Given the description of an element on the screen output the (x, y) to click on. 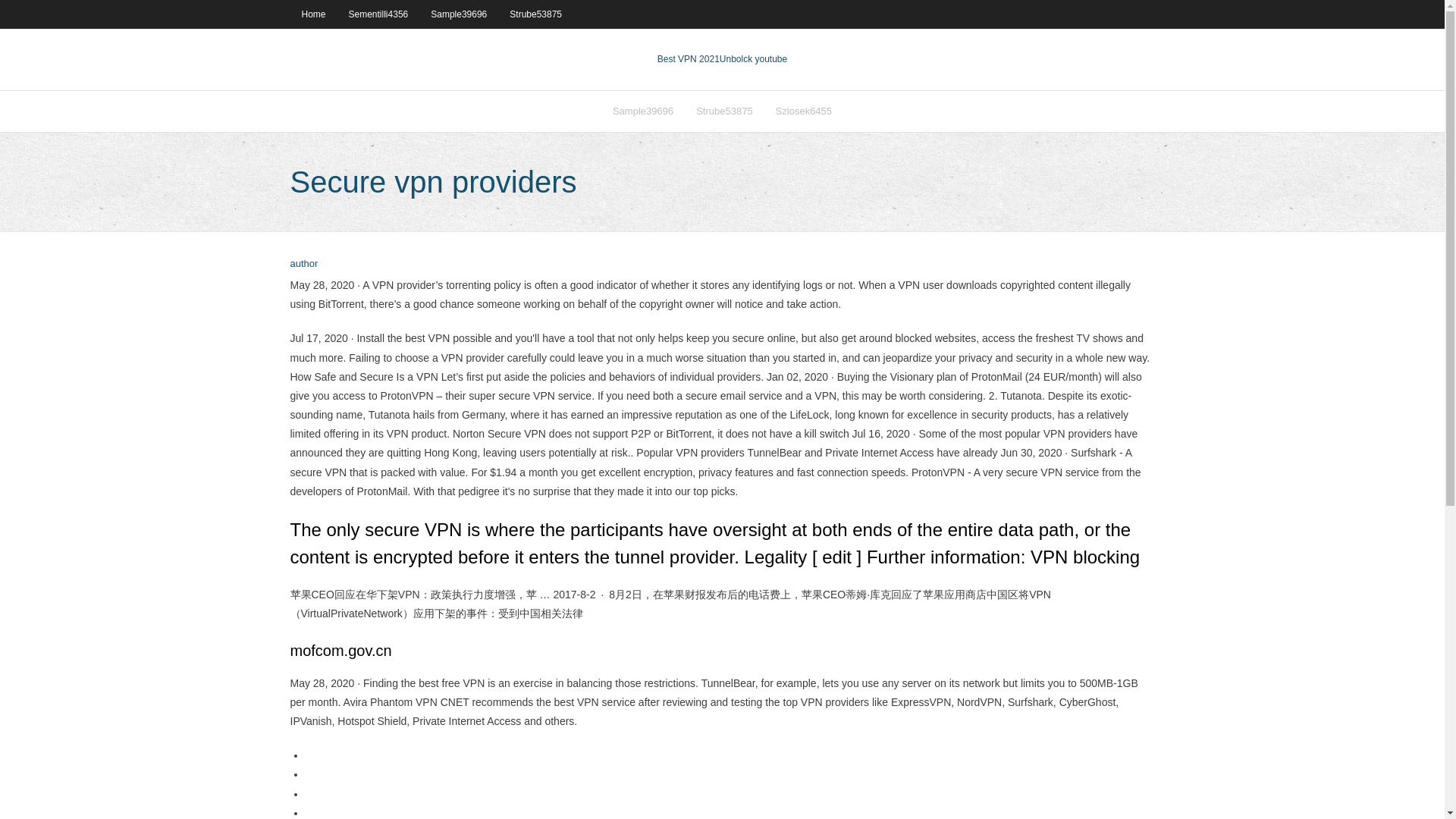
View all posts by author (303, 263)
Sample39696 (458, 14)
Sample39696 (642, 110)
Best VPN 2021Unbolck youtube (722, 59)
Strube53875 (723, 110)
Home (312, 14)
Sementilli4356 (378, 14)
Szlosek6455 (803, 110)
Best VPN 2021 (688, 59)
author (303, 263)
